Given the description of an element on the screen output the (x, y) to click on. 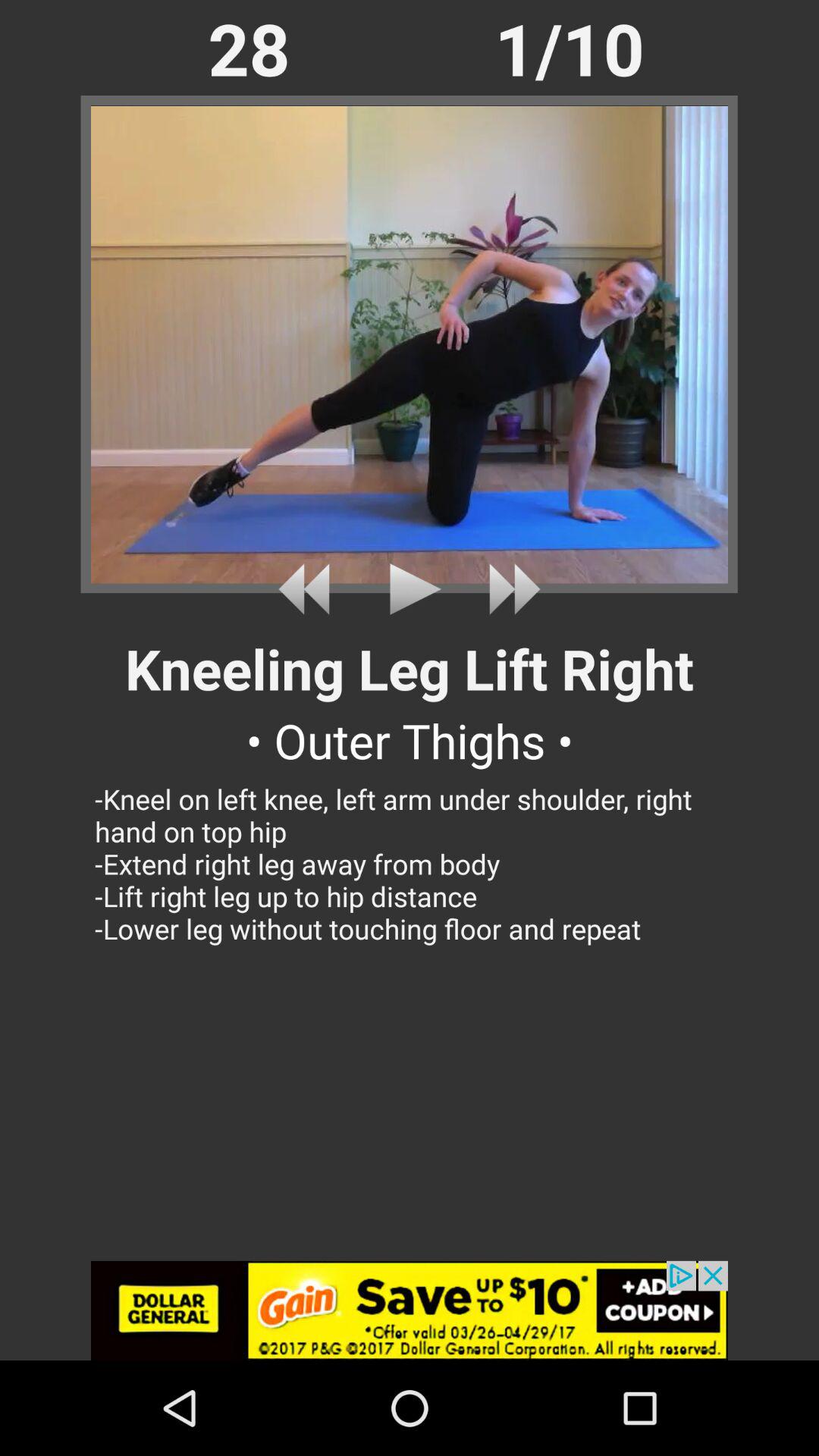
go to play (508, 589)
